Given the description of an element on the screen output the (x, y) to click on. 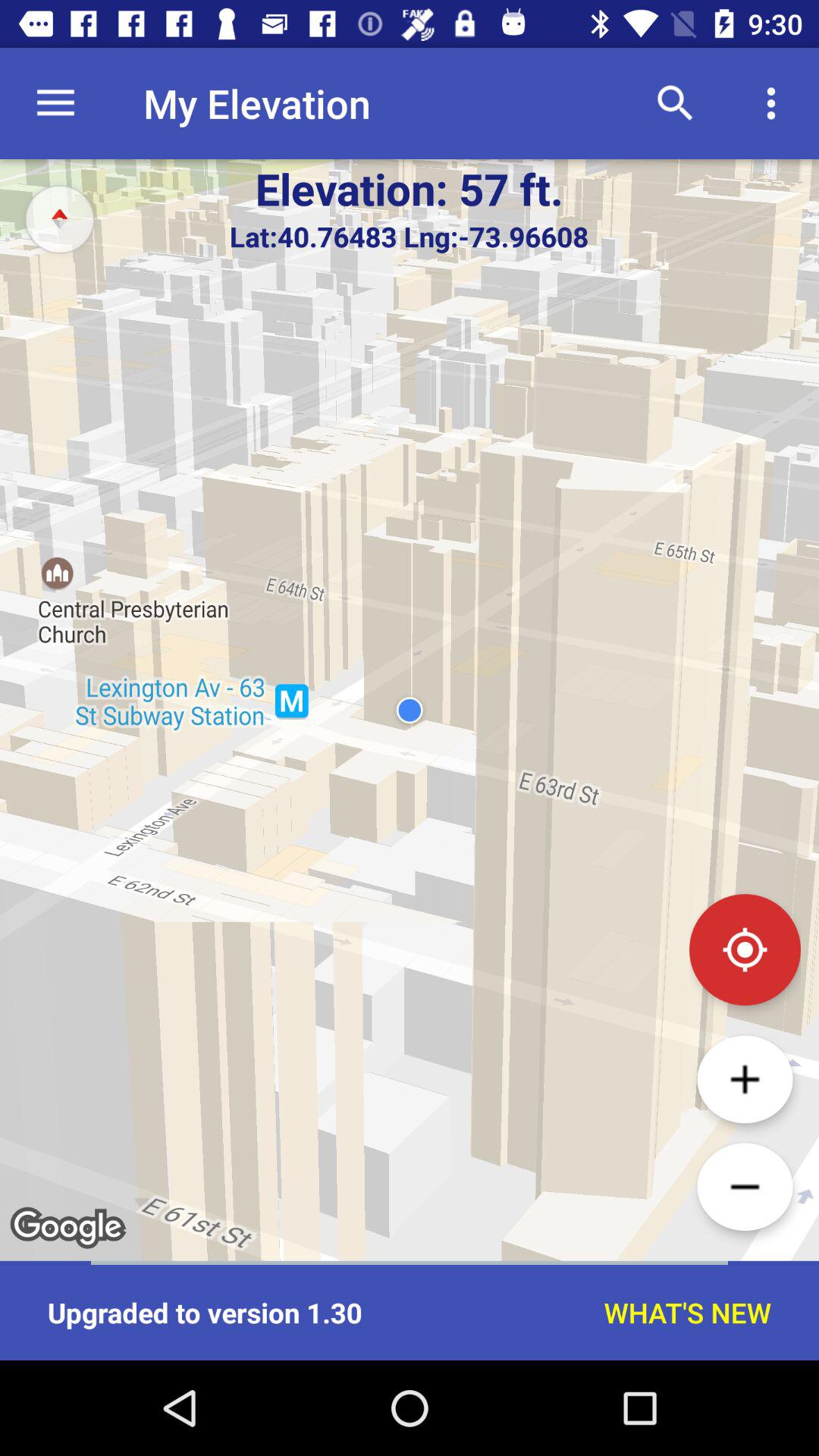
move to target location (744, 949)
